Given the description of an element on the screen output the (x, y) to click on. 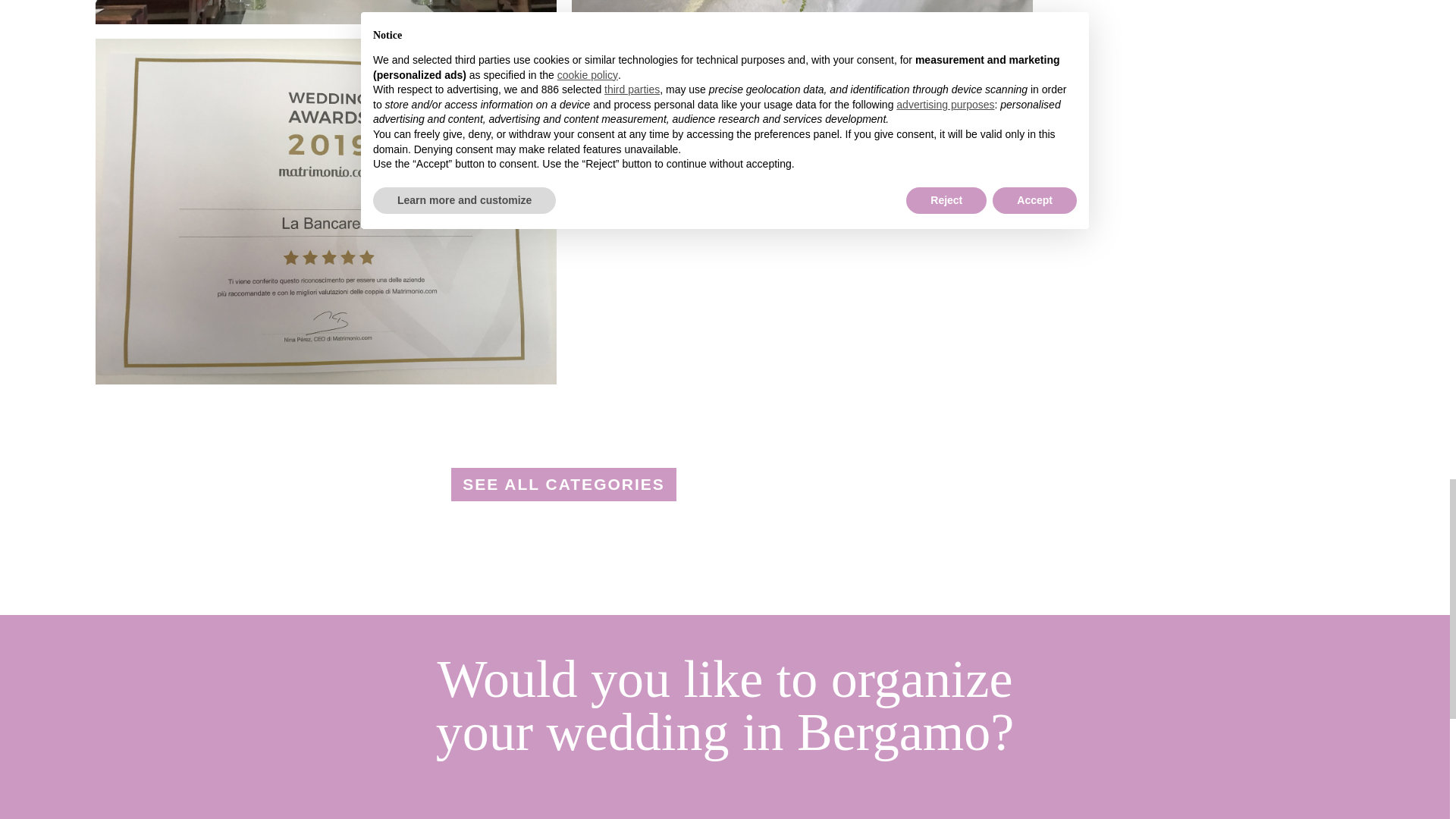
SEE ALL CATEGORIES (564, 484)
